Given the description of an element on the screen output the (x, y) to click on. 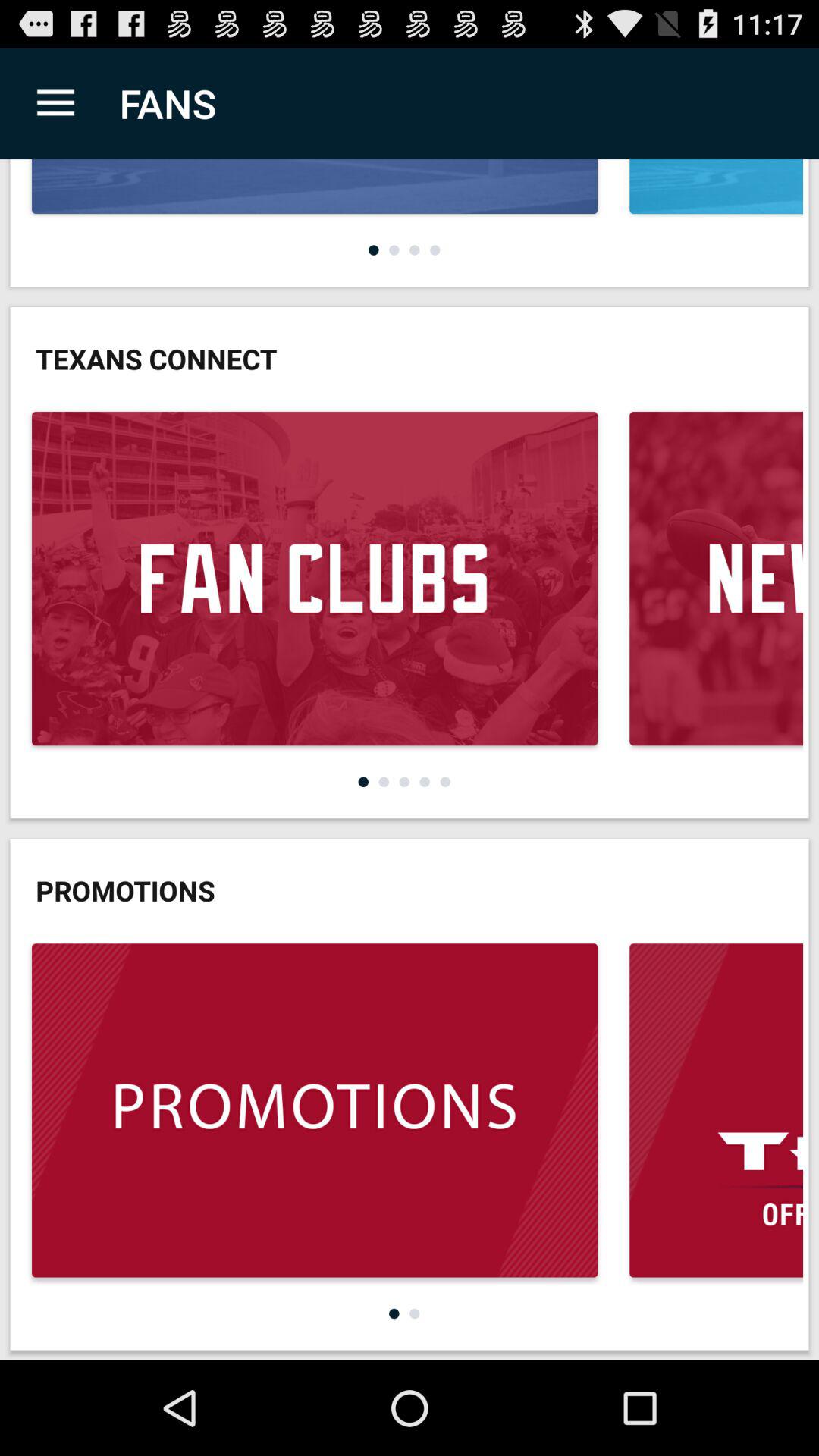
press app next to fans app (55, 103)
